Given the description of an element on the screen output the (x, y) to click on. 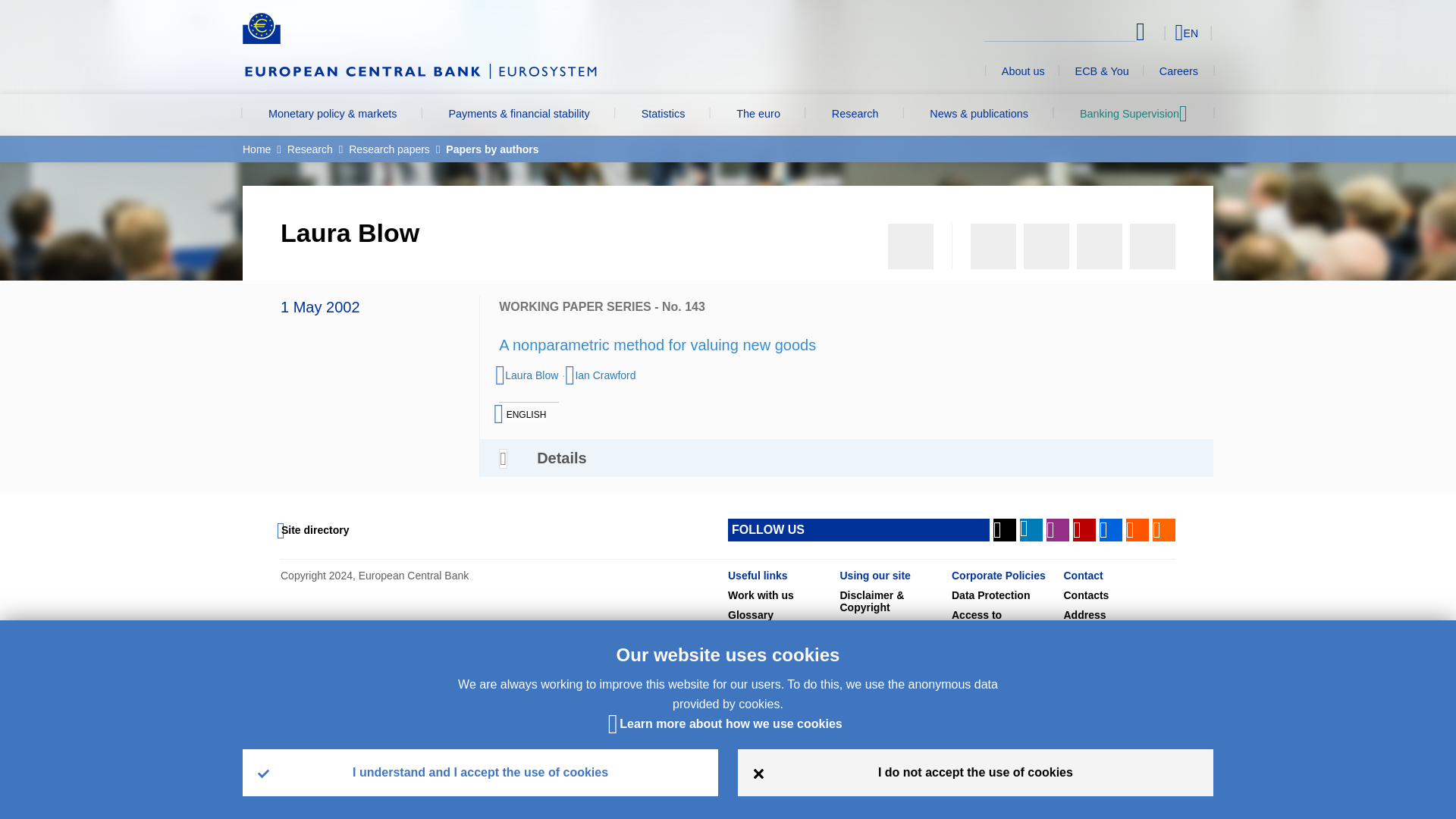
Select language (1159, 32)
